Given the description of an element on the screen output the (x, y) to click on. 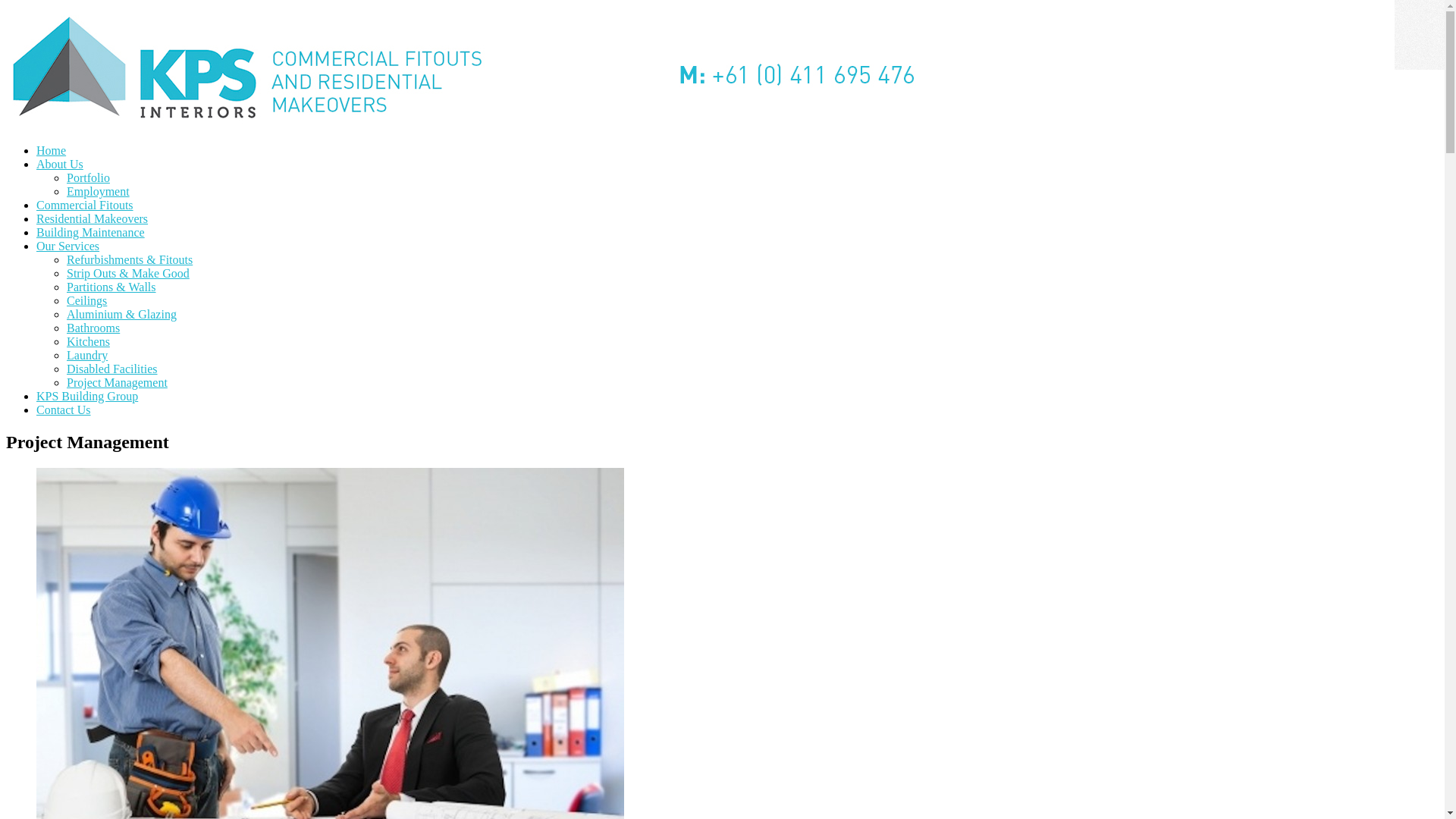
Disabled Facilities Element type: text (111, 368)
Contact Us Element type: text (63, 409)
Portfolio Element type: text (87, 177)
Building Maintenance Element type: text (90, 231)
Home Element type: text (50, 150)
Bathrooms Element type: text (92, 327)
Aluminium & Glazing Element type: text (121, 313)
Residential Makeovers Element type: text (91, 218)
Refurbishments & Fitouts Element type: text (129, 259)
Partitions & Walls Element type: text (111, 286)
Our Services Element type: text (67, 245)
KPS Building Group Element type: text (87, 395)
About Us Element type: text (59, 163)
Project Management Element type: text (116, 382)
Employment Element type: text (97, 191)
Strip Outs & Make Good Element type: text (127, 272)
Kitchens Element type: text (87, 341)
Commercial Fitouts Element type: text (84, 204)
Ceilings Element type: text (86, 300)
KPS Interiors Element type: hover (461, 118)
Laundry Element type: text (86, 354)
